Given the description of an element on the screen output the (x, y) to click on. 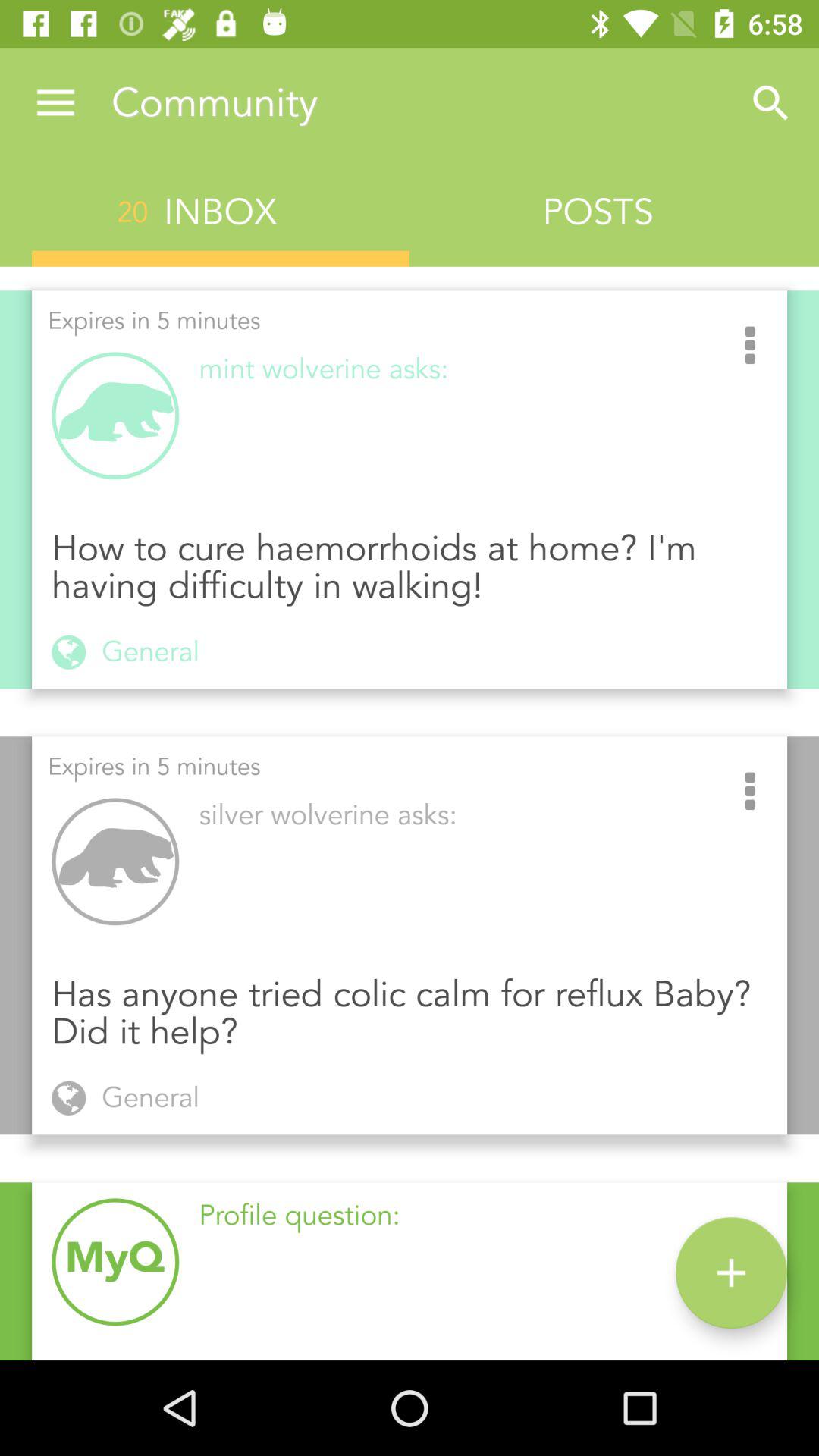
select the item next to the silver wolverine asks: item (750, 792)
